Given the description of an element on the screen output the (x, y) to click on. 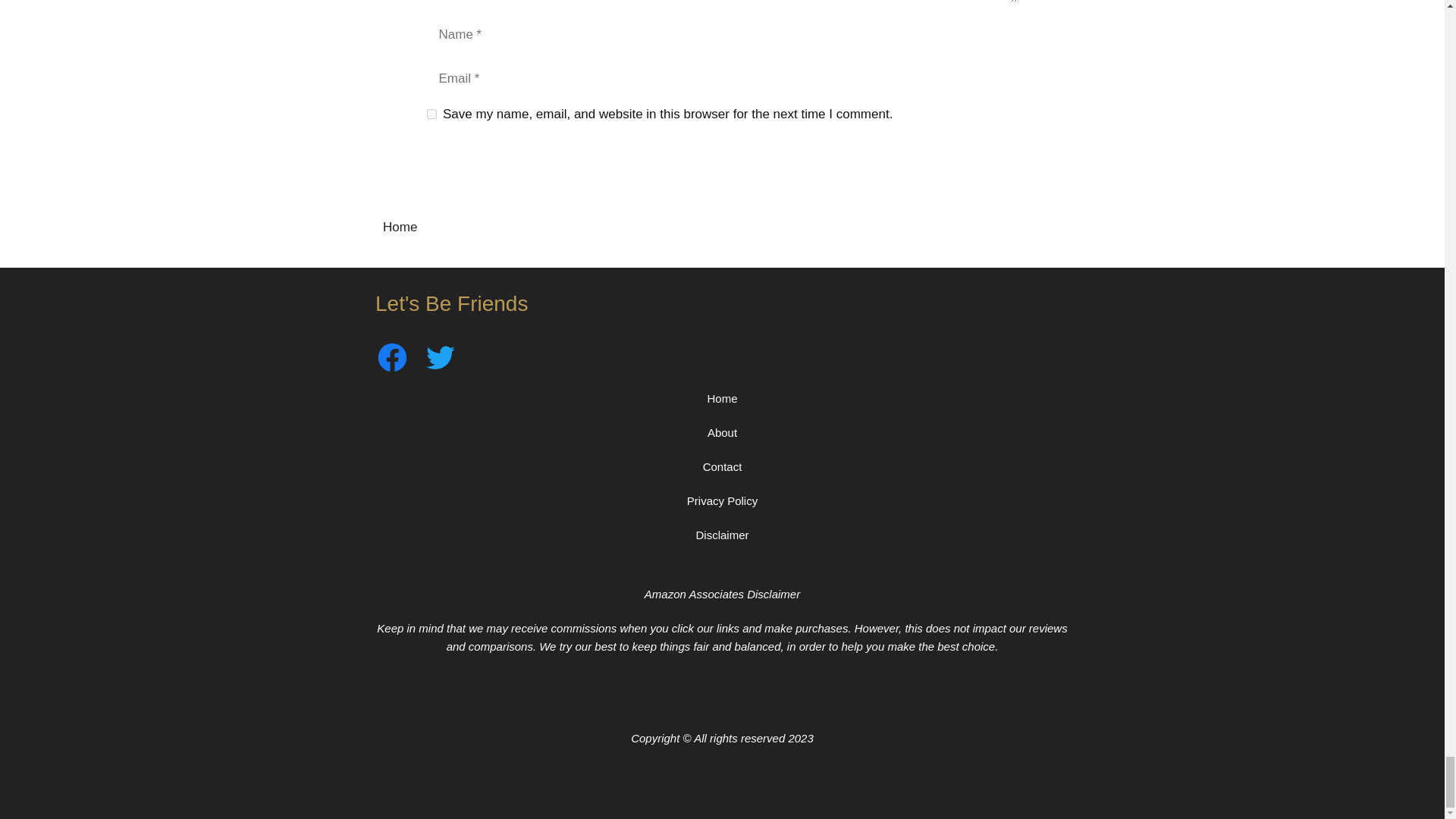
Post Comment (487, 160)
yes (430, 113)
